Given the description of an element on the screen output the (x, y) to click on. 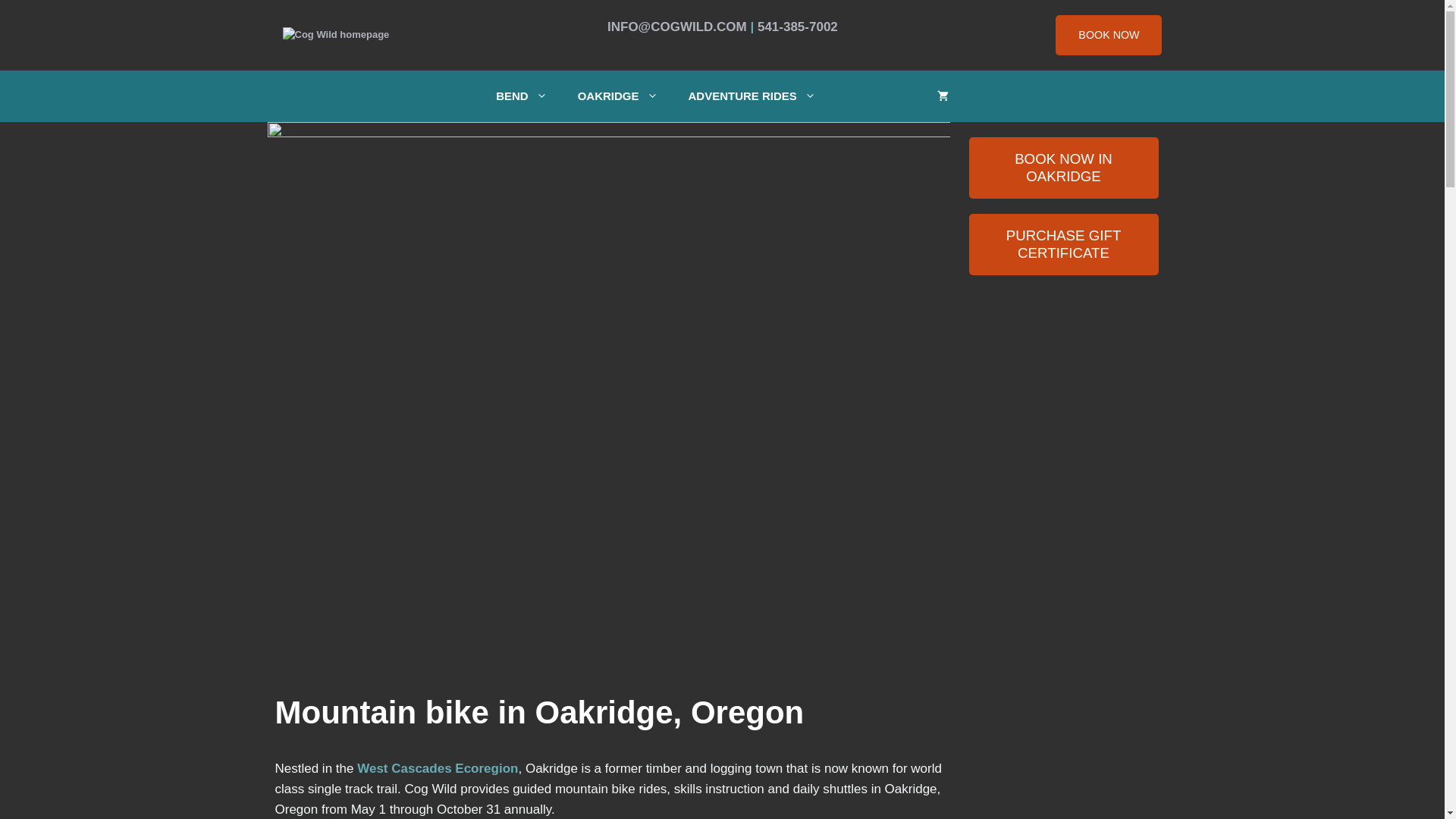
541-385-7002 (797, 26)
BOOK NOW (1108, 35)
View your shopping cart (942, 95)
OAKRIDGE (617, 95)
BEND (521, 95)
ADVENTURE RIDES (751, 95)
